Given the description of an element on the screen output the (x, y) to click on. 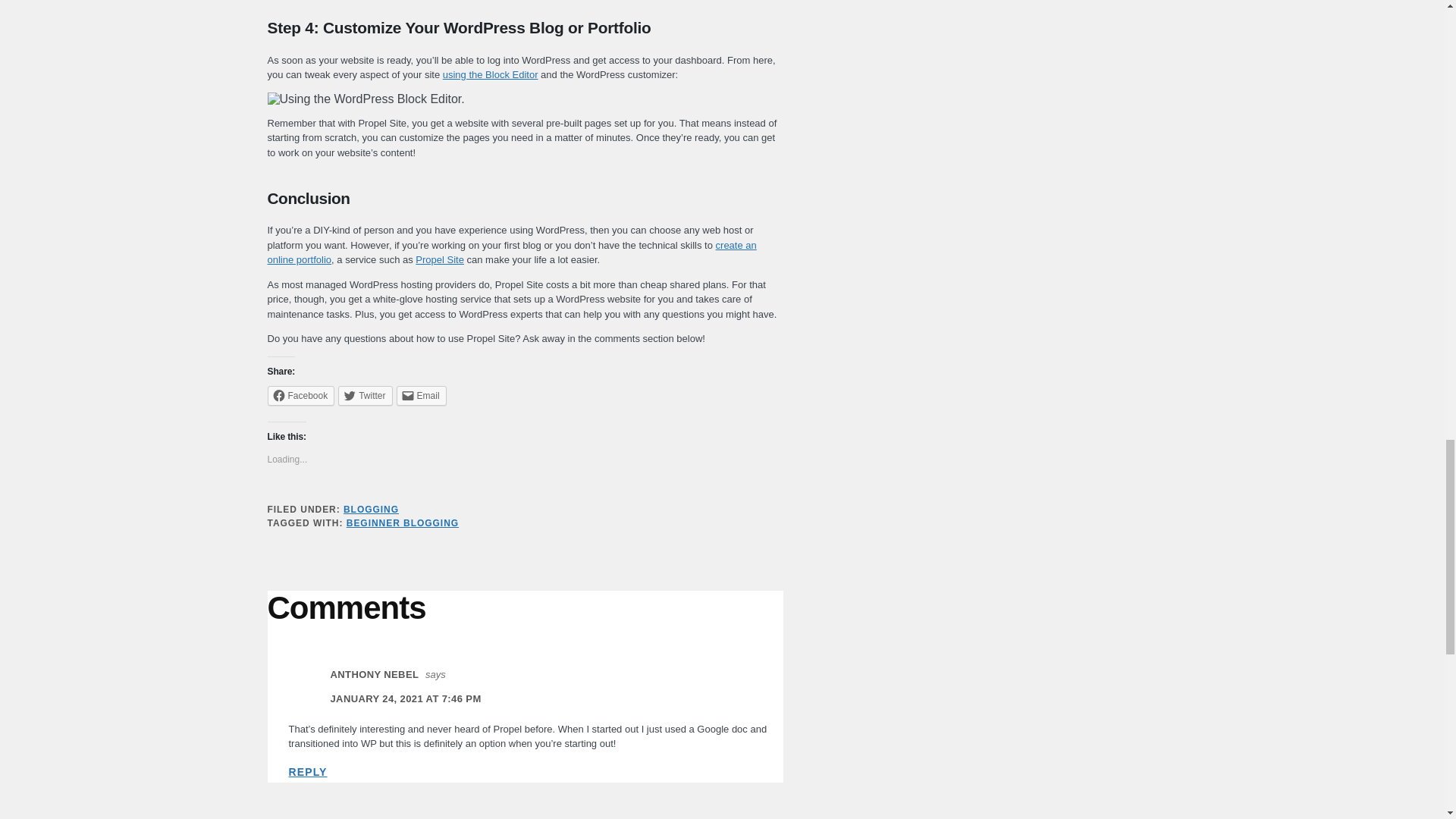
using the Block Editor (490, 74)
Email (421, 395)
Click to share on Facebook (300, 395)
Facebook (300, 395)
Twitter (364, 395)
Click to email this to a friend (421, 395)
Click to share on Twitter (364, 395)
BLOGGING (370, 509)
JANUARY 24, 2021 AT 7:46 PM (405, 698)
REPLY (307, 771)
Propel Site (439, 259)
create an online portfolio (510, 252)
BEGINNER BLOGGING (402, 522)
ANTHONY NEBEL (374, 674)
